Given the description of an element on the screen output the (x, y) to click on. 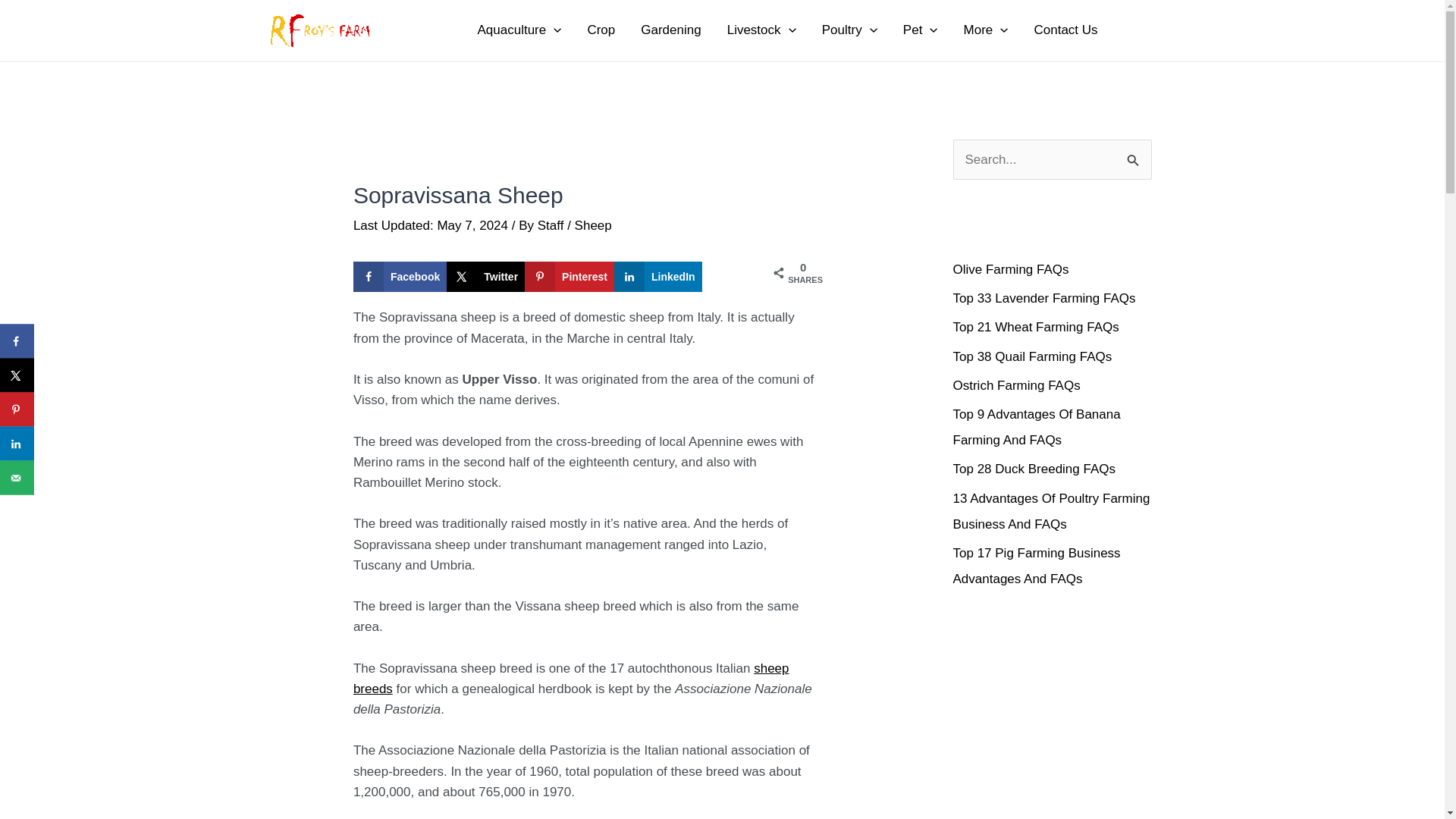
Search (1134, 155)
View all posts by Staff (552, 225)
Crop (600, 30)
Gardening (670, 30)
More (986, 30)
Pet (919, 30)
Share on X (485, 276)
Livestock (761, 30)
Share on LinkedIn (657, 276)
Poultry (849, 30)
